Given the description of an element on the screen output the (x, y) to click on. 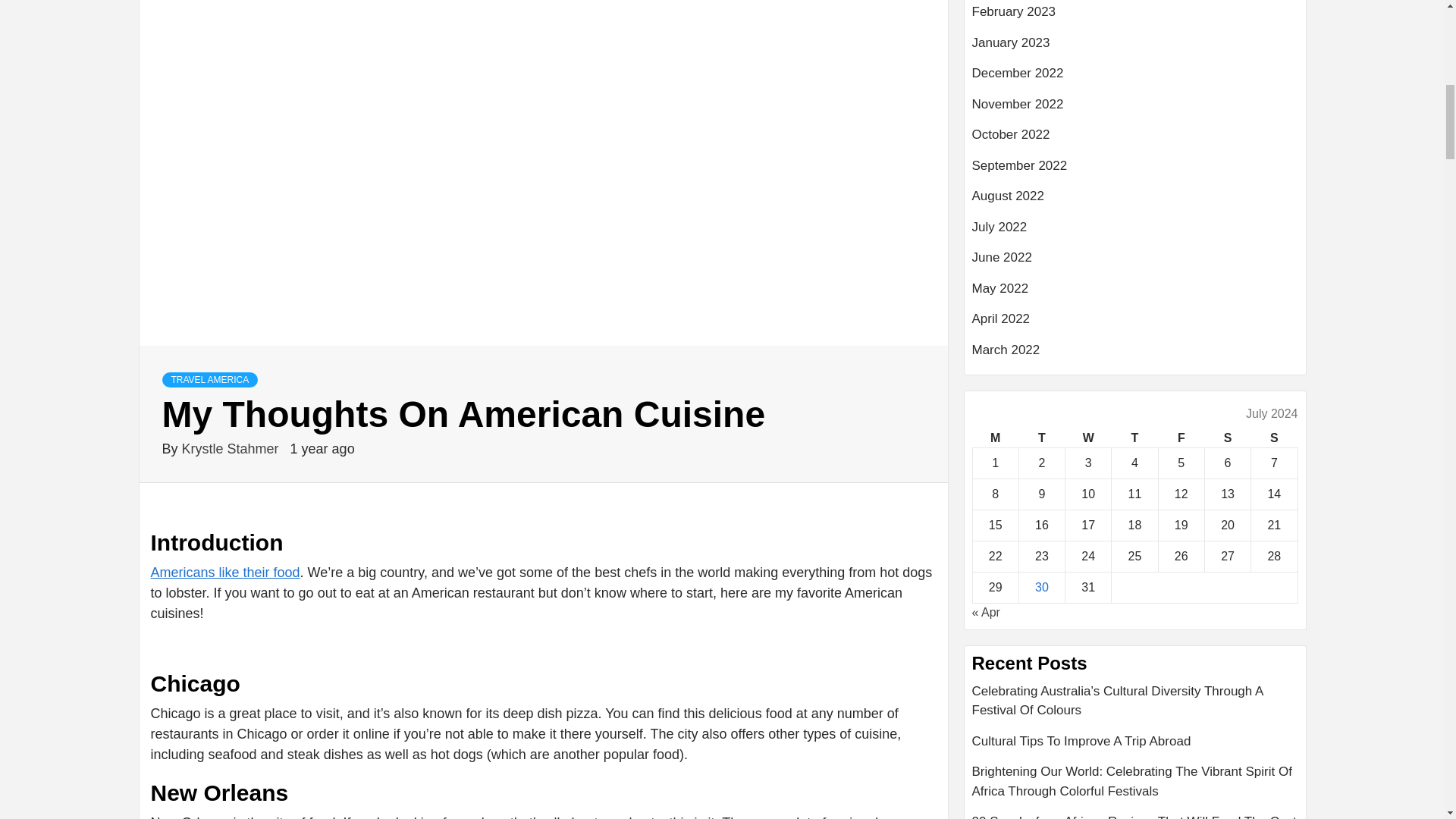
Sunday (1273, 438)
Tuesday (1040, 438)
Thursday (1134, 438)
Wednesday (1088, 438)
Saturday (1227, 438)
December 2022 (1135, 79)
Friday (1180, 438)
October 2022 (1135, 140)
November 2022 (1135, 110)
Krystle Stahmer (232, 448)
January 2023 (1135, 48)
TRAVEL AMERICA (210, 379)
Americans like their food (224, 572)
Monday (994, 438)
